Given the description of an element on the screen output the (x, y) to click on. 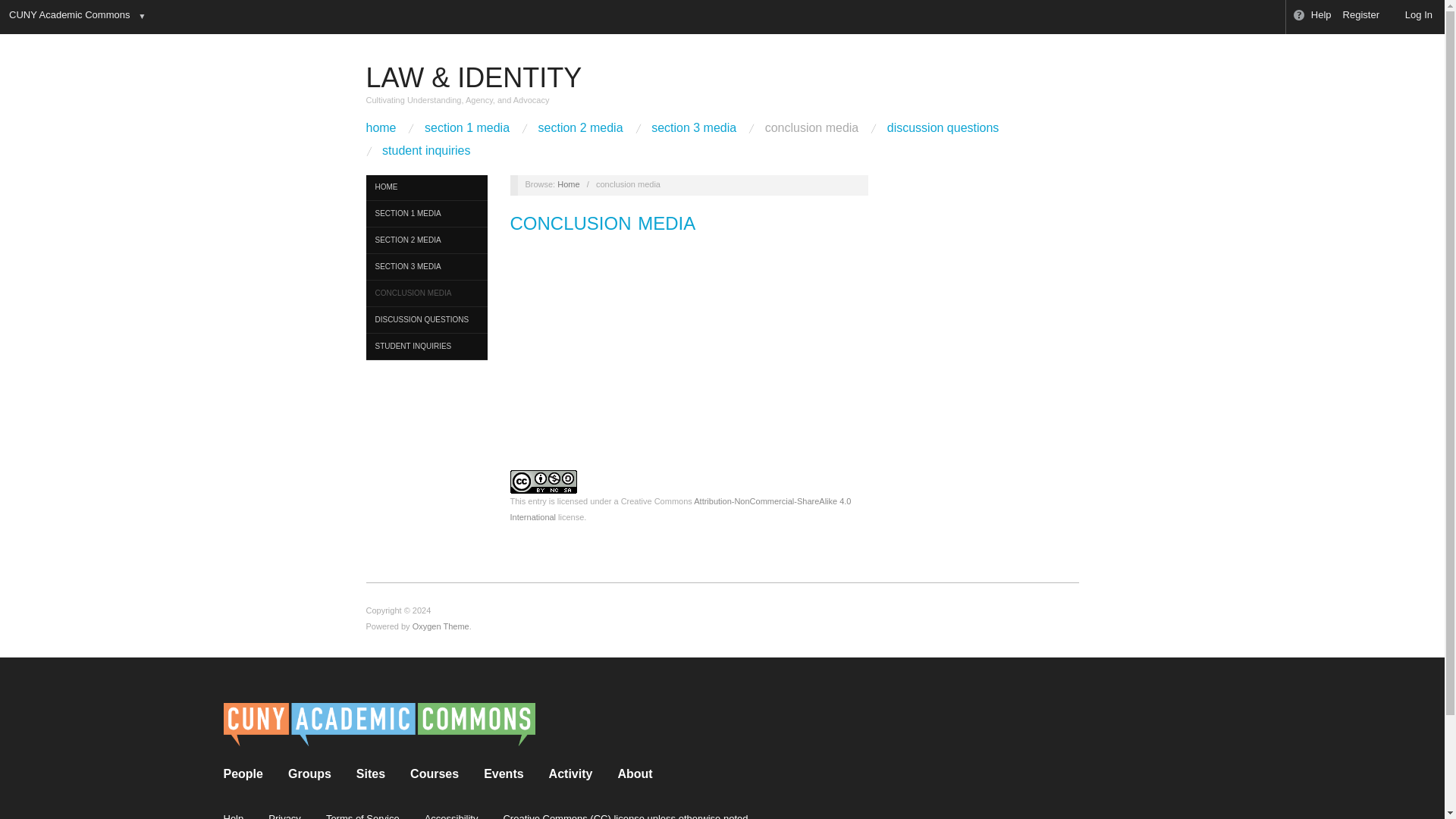
home (380, 127)
SECTION 2 MEDIA (425, 240)
Oxygen Theme (440, 625)
conclusion media (603, 222)
conclusion media (812, 127)
student inquiries (425, 150)
DISCUSSION QUESTIONS (425, 320)
CONCLUSION MEDIA (425, 293)
section 2 media (580, 127)
SECTION 1 MEDIA (425, 213)
